Given the description of an element on the screen output the (x, y) to click on. 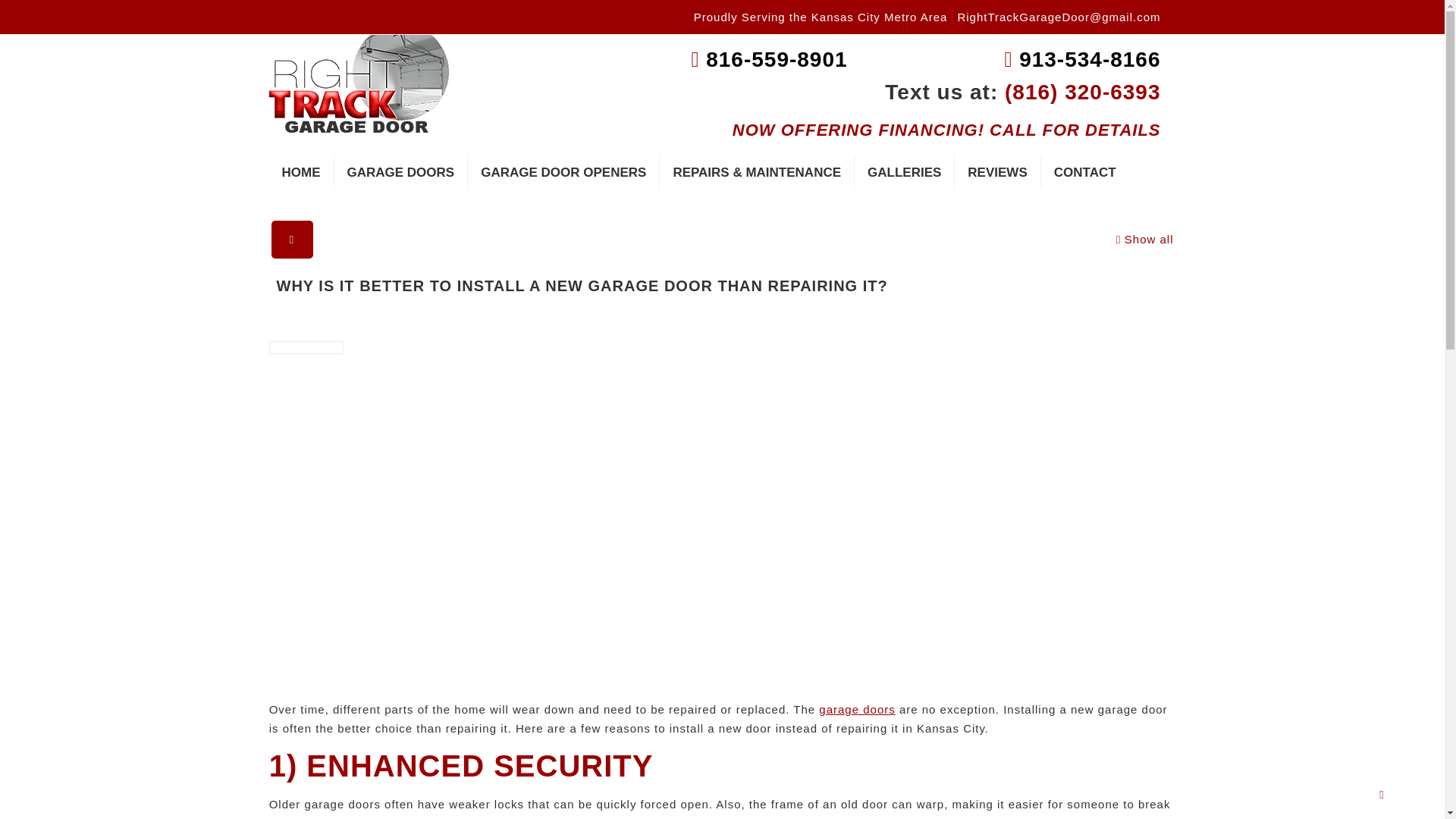
REVIEWS (998, 172)
GARAGE DOORS (400, 172)
CONTACT (1085, 172)
Proudly Serving the Kansas City Metro Area (820, 16)
913-534-8166 (1078, 59)
Right Track Garage Door (357, 87)
Email Right Track Garage Door (1058, 16)
816-559-8901 (765, 59)
Right Track Garage Door Service Areas (820, 16)
Show all (1143, 238)
garage doors (856, 708)
GARAGE DOOR OPENERS (563, 172)
GALLERIES (904, 172)
HOME (300, 172)
